Given the description of an element on the screen output the (x, y) to click on. 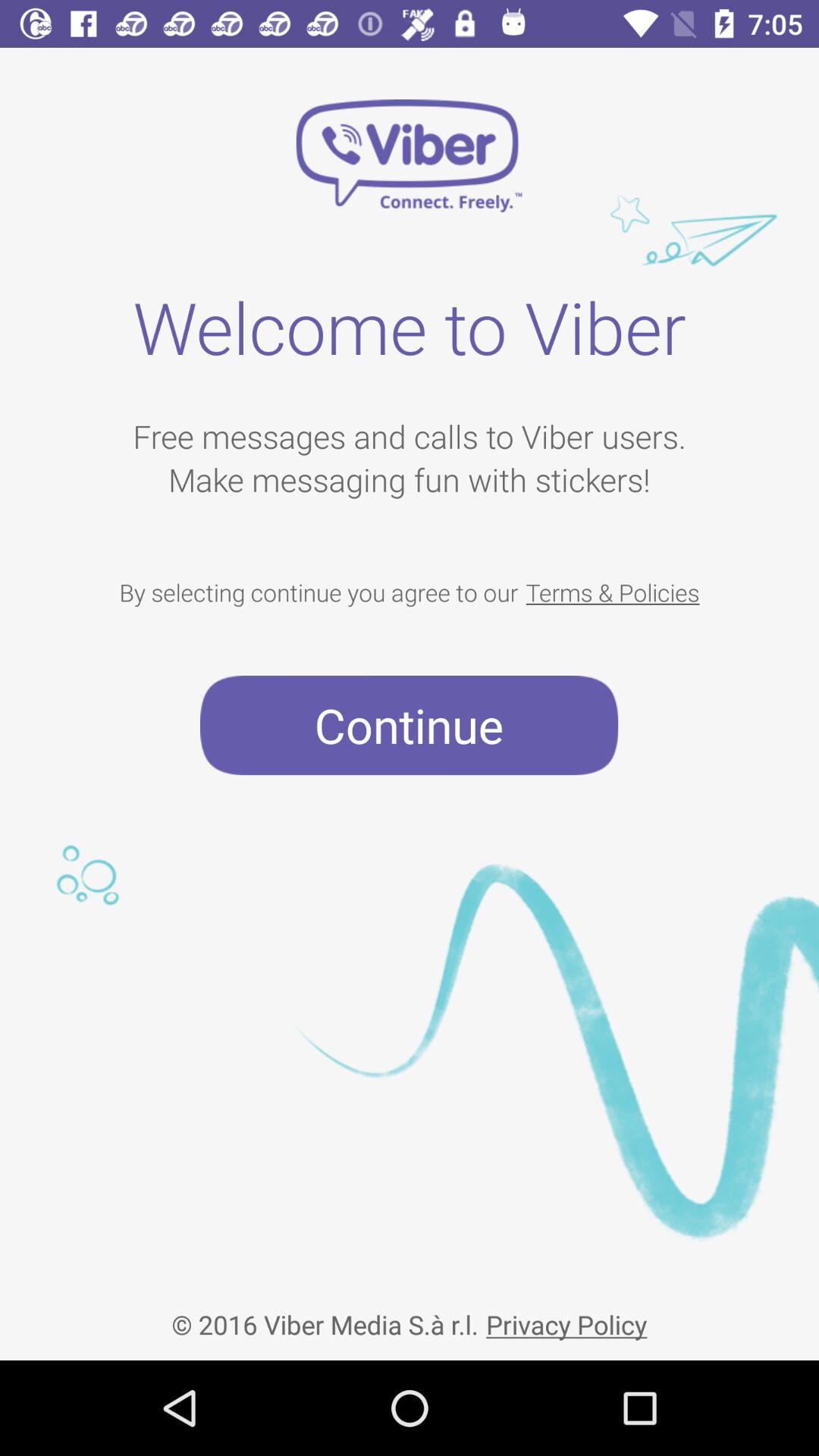
click icon next to the by selecting continue (612, 592)
